Given the description of an element on the screen output the (x, y) to click on. 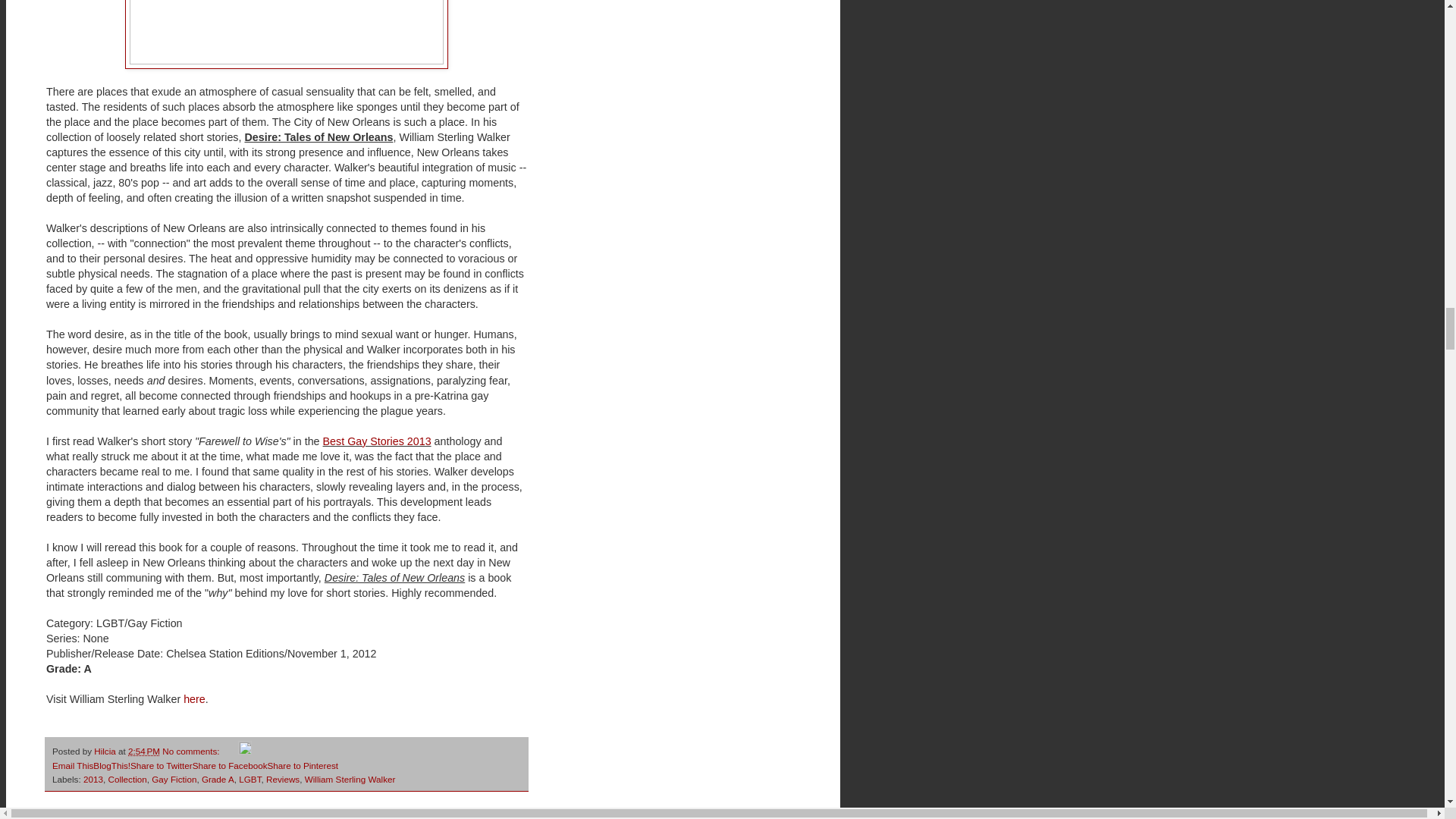
BlogThis! (112, 765)
Email Post (230, 750)
permanent link (144, 750)
Email This (72, 765)
author profile (105, 750)
Edit Post (244, 750)
